Given the description of an element on the screen output the (x, y) to click on. 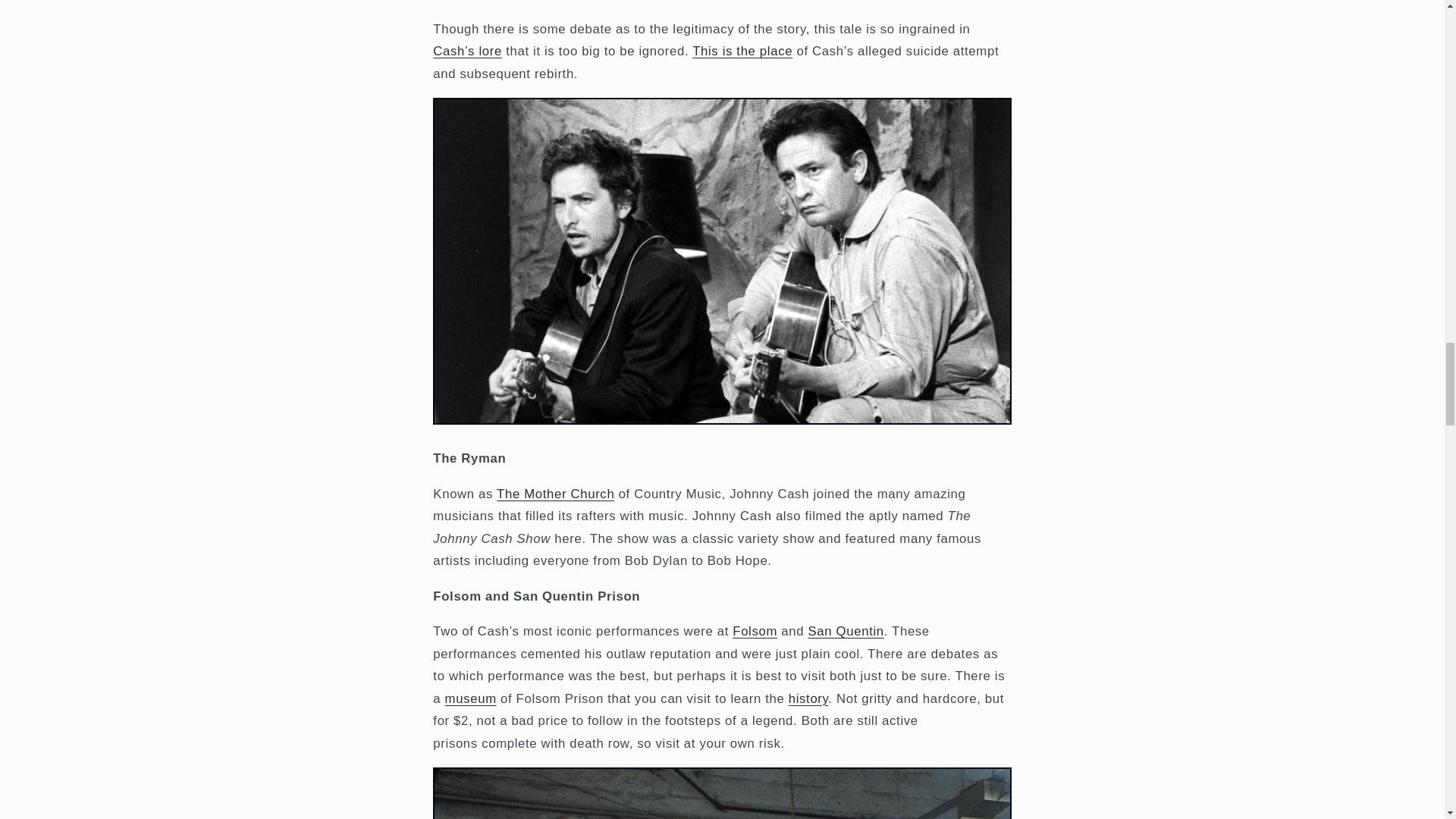
Folsom Prison Museum  (470, 698)
The Ryman (555, 493)
Folsom Prison history (808, 698)
Johnny Cash Saved by God  (467, 51)
San Quentin State Prison (845, 631)
Nickajack Cave Wikipedia (742, 51)
Folsom State Prison  (754, 631)
